Given the description of an element on the screen output the (x, y) to click on. 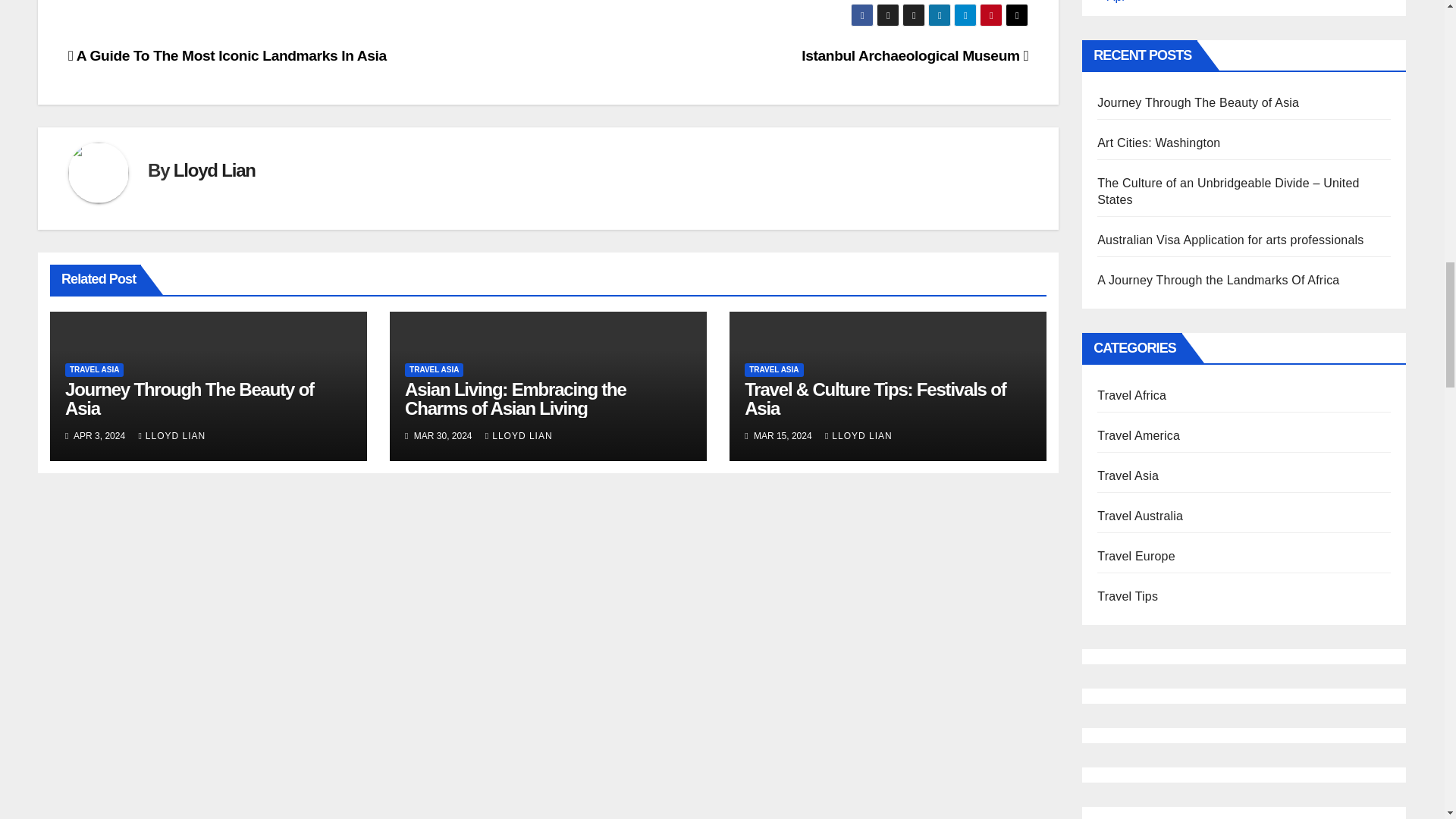
TRAVEL ASIA (94, 369)
Permalink to: Journey Through The Beauty of Asia (189, 398)
Lloyd Lian (214, 169)
A Guide To The Most Iconic Landmarks In Asia (227, 55)
Istanbul Archaeological Museum (914, 55)
